Given the description of an element on the screen output the (x, y) to click on. 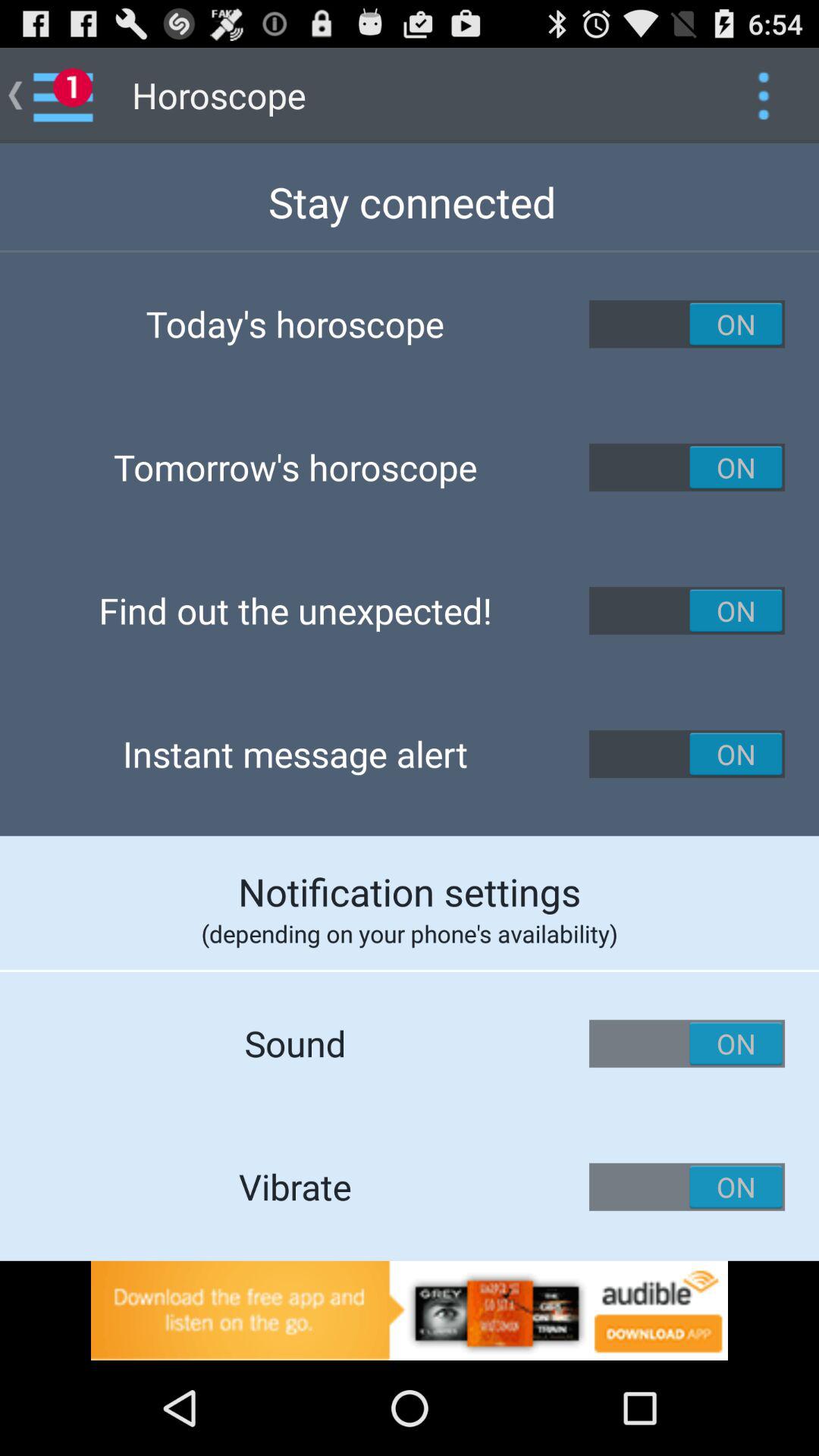
turn on/off for find out the unexpected option (686, 610)
